Given the description of an element on the screen output the (x, y) to click on. 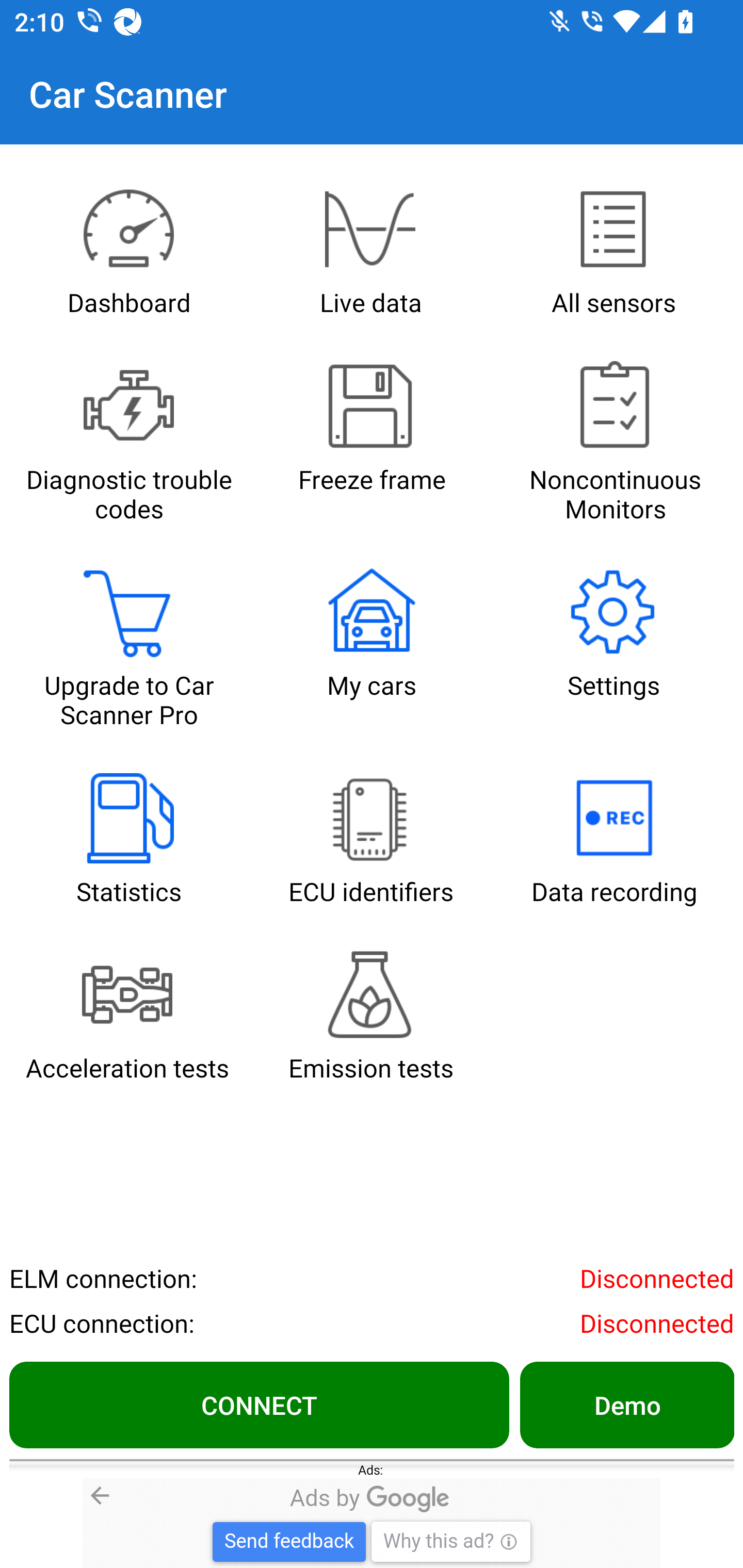
CONNECT (258, 1404)
Demo (627, 1404)
